Given the description of an element on the screen output the (x, y) to click on. 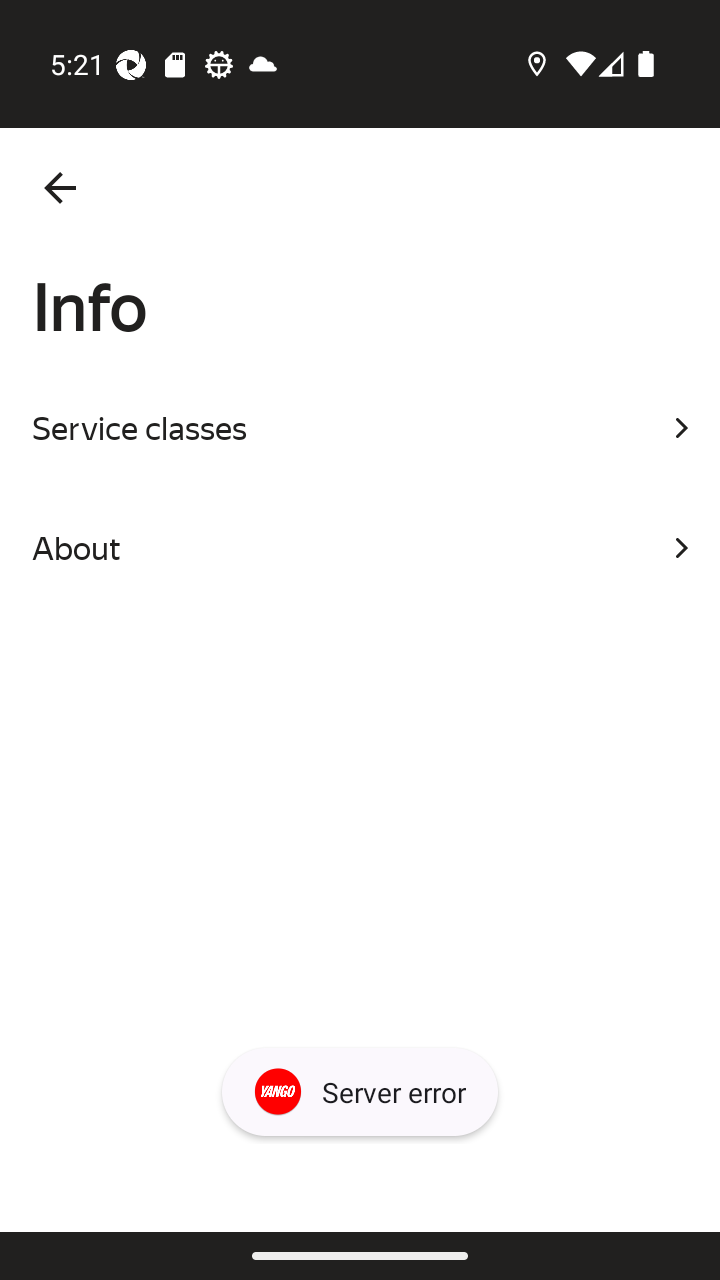
Back (60, 188)
Service classes (360, 427)
About (360, 547)
